Given the description of an element on the screen output the (x, y) to click on. 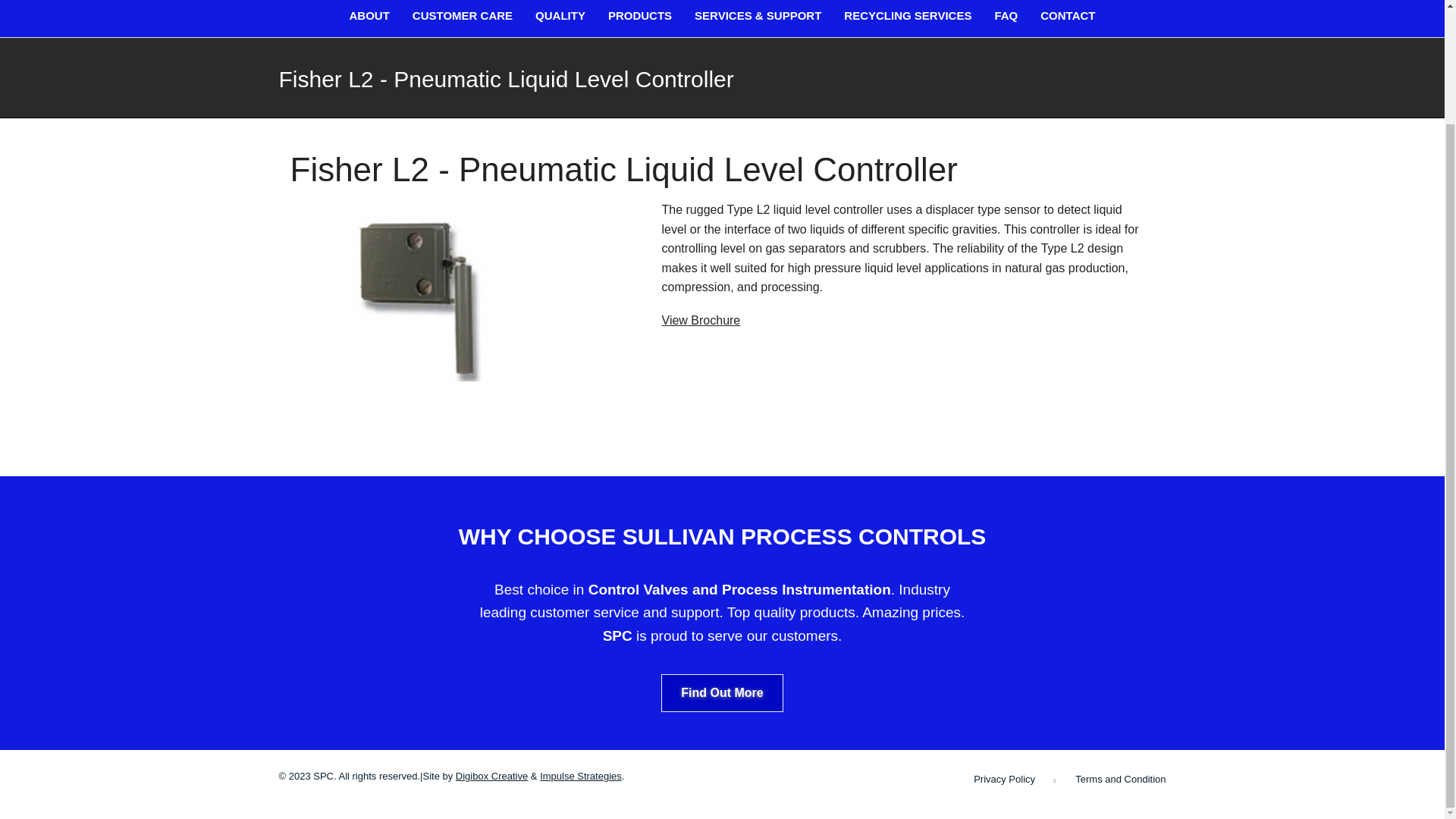
About (368, 18)
Terms and Condition (1120, 778)
CONTACT (1067, 18)
RECYCLING SERVICES (907, 18)
Digibox Creative (491, 776)
QUALITY (560, 18)
Impulse Strategies (580, 776)
Privacy Policy (1004, 778)
ABOUT (368, 18)
CUSTOMER CARE (462, 18)
